Given the description of an element on the screen output the (x, y) to click on. 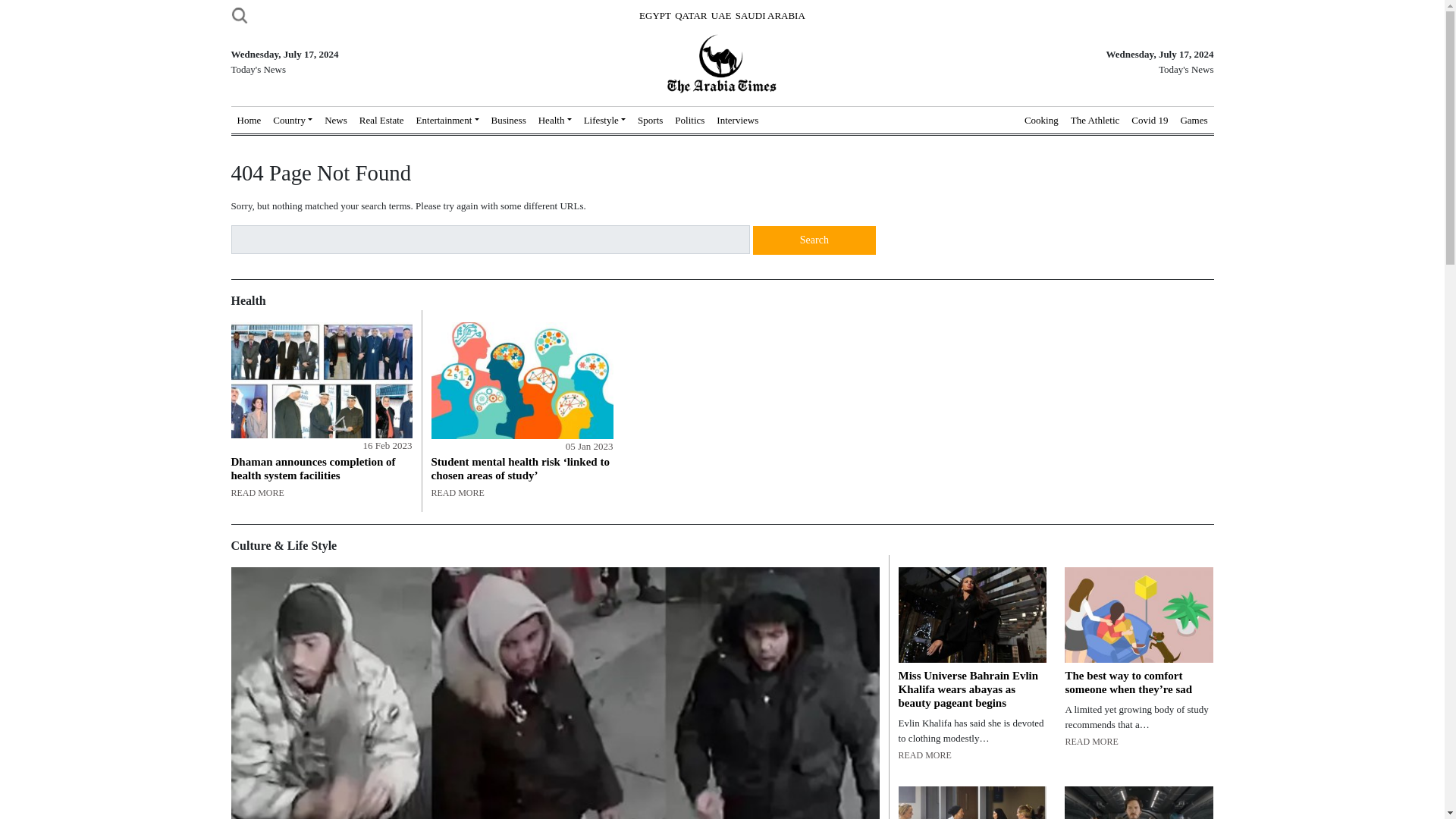
Business (508, 120)
News (335, 120)
Dhaman announces completion of health system facilities (321, 380)
SAUDI ARABIA (770, 15)
UAE: Hospital announces free support for cancer patients (972, 802)
Search (814, 240)
Entertainment (447, 120)
QATAR (690, 15)
Real Estate (381, 120)
The biggest movies coming your way in 2023 (1138, 802)
The Arabia Times (721, 62)
Country (292, 120)
Home (248, 120)
